Given the description of an element on the screen output the (x, y) to click on. 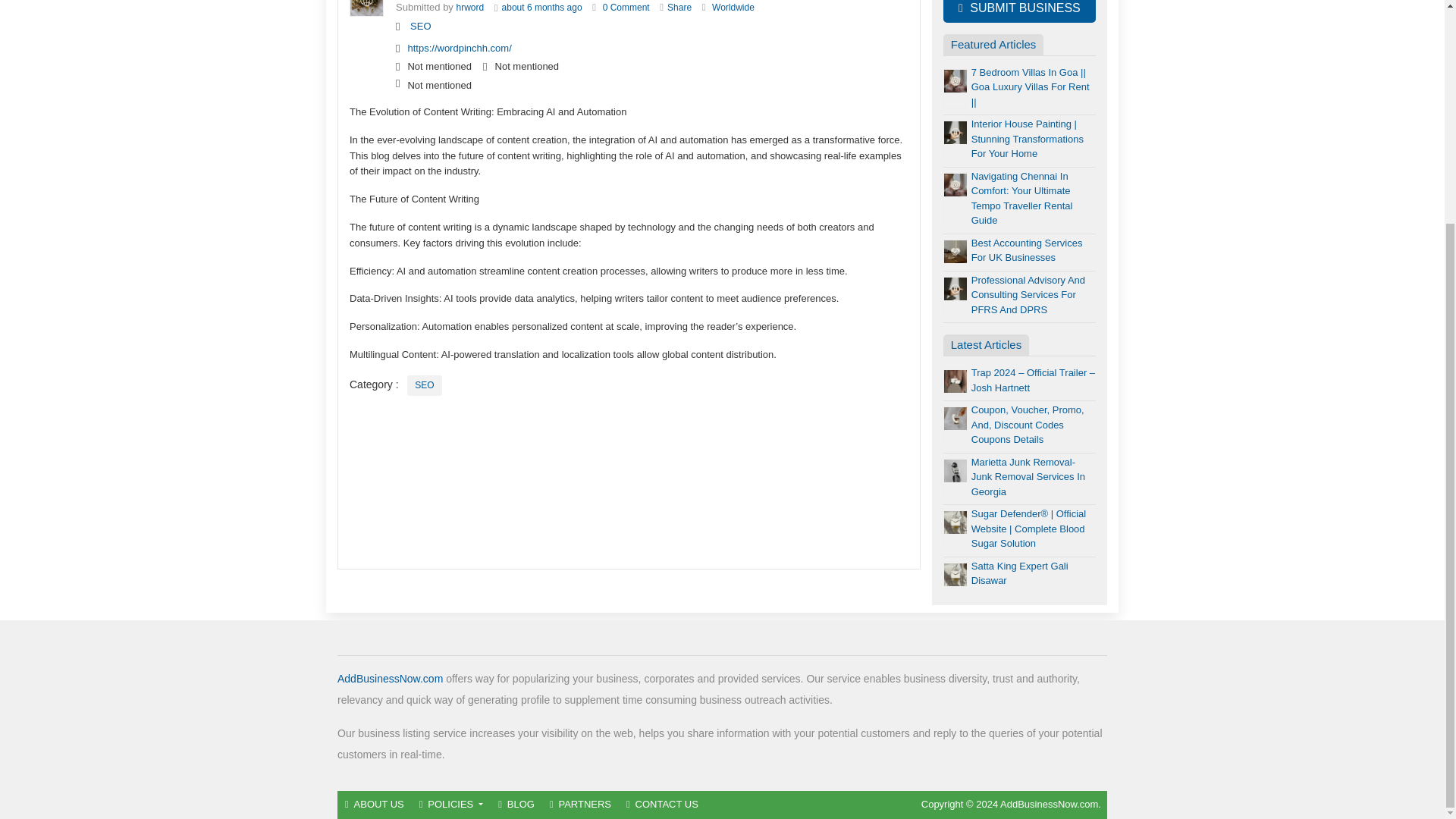
SEO (424, 385)
about 6 months ago (542, 7)
Share (678, 7)
Wordpinchh (470, 7)
SEO (420, 25)
Worldwide (732, 7)
0 Comment (625, 7)
SUBMIT BUSINESS (1019, 11)
Worldwide (732, 7)
